Given the description of an element on the screen output the (x, y) to click on. 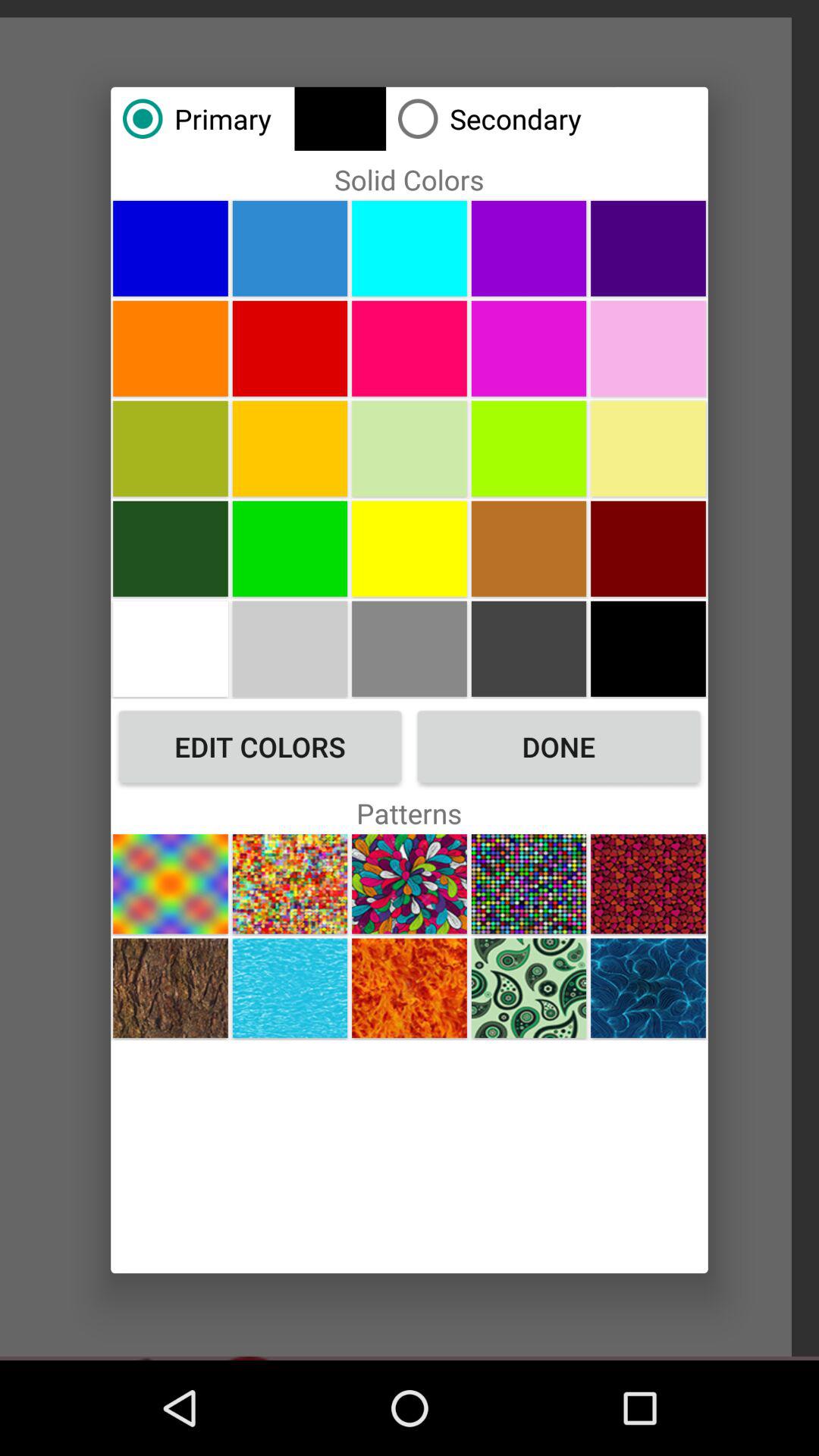
select pattern (289, 987)
